Given the description of an element on the screen output the (x, y) to click on. 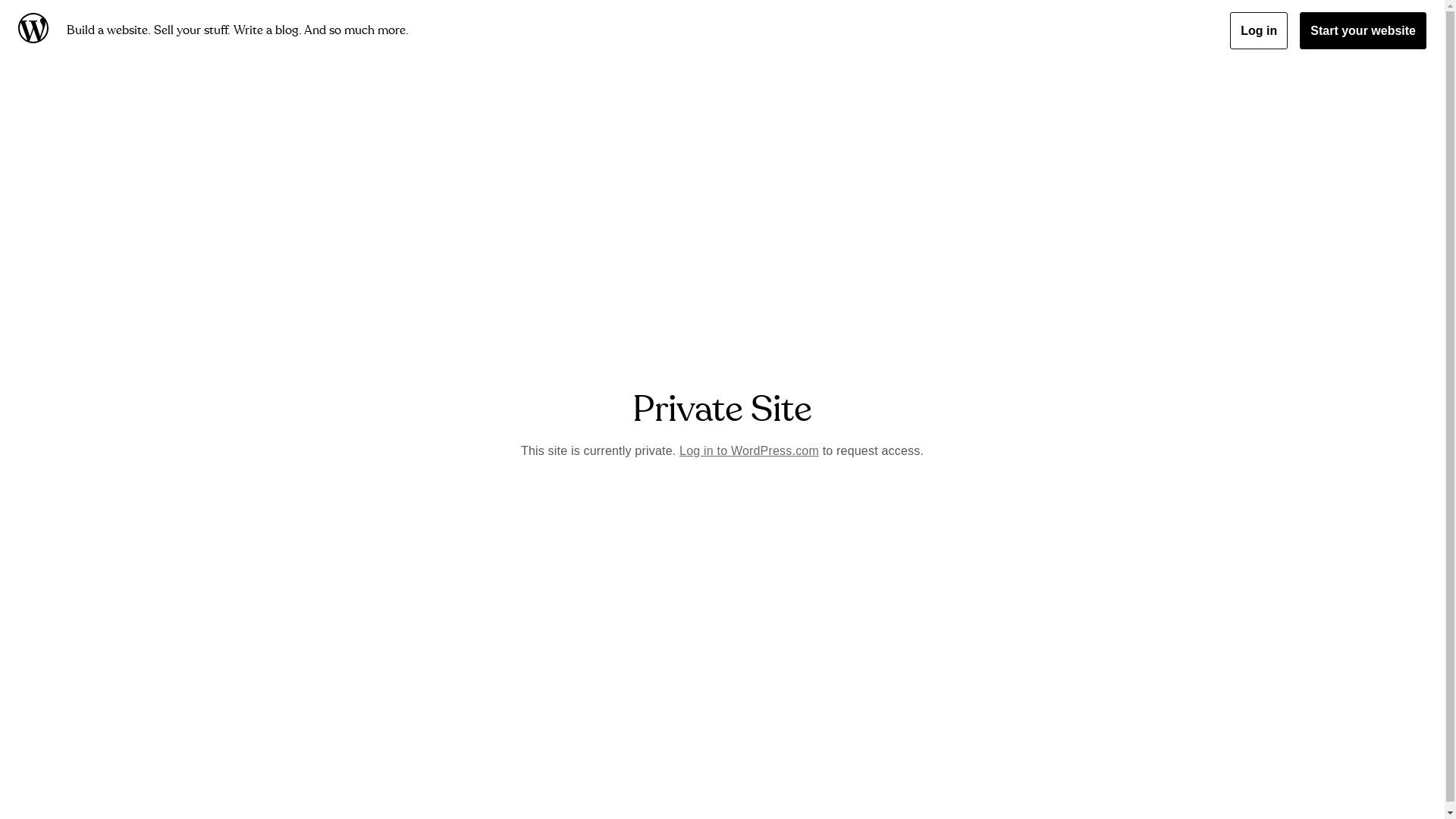
WordPress.com Element type: text (36, 30)
Log in to WordPress.com Element type: text (749, 450)
Start your website Element type: text (1362, 30)
Log in Element type: text (1258, 30)
